Given the description of an element on the screen output the (x, y) to click on. 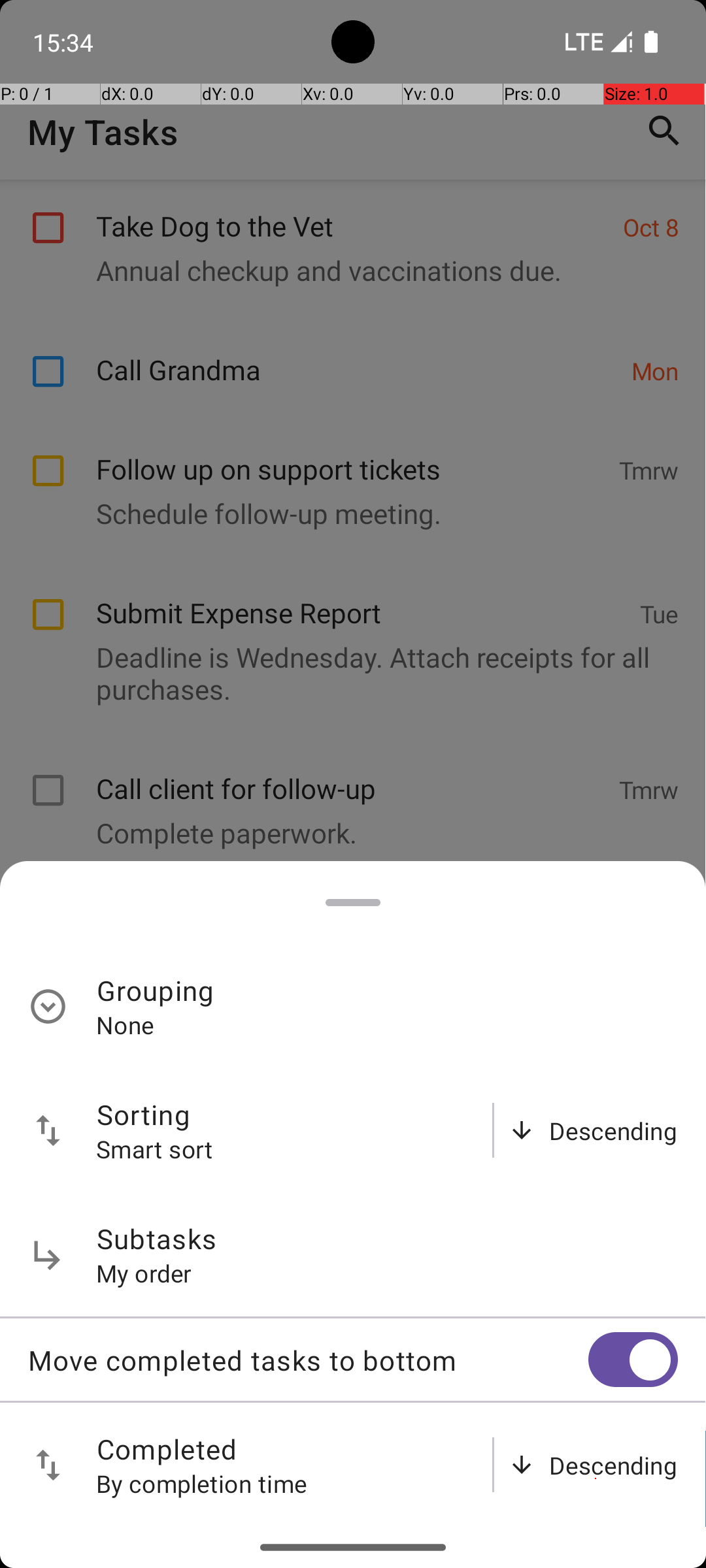
Drag handle Element type: android.view.View (352, 902)
Grouping Element type: android.widget.TextView (155, 989)
Sorting Element type: android.widget.TextView (143, 1113)
Smart sort Element type: android.widget.TextView (154, 1148)
Subtasks Element type: android.widget.TextView (156, 1238)
My order Element type: android.widget.TextView (144, 1273)
Move completed tasks to bottom Element type: android.widget.TextView (307, 1359)
Completed Element type: android.widget.TextView (166, 1448)
By completion time Element type: android.widget.TextView (201, 1483)
Descending Element type: android.widget.TextView (613, 1130)
